Given the description of an element on the screen output the (x, y) to click on. 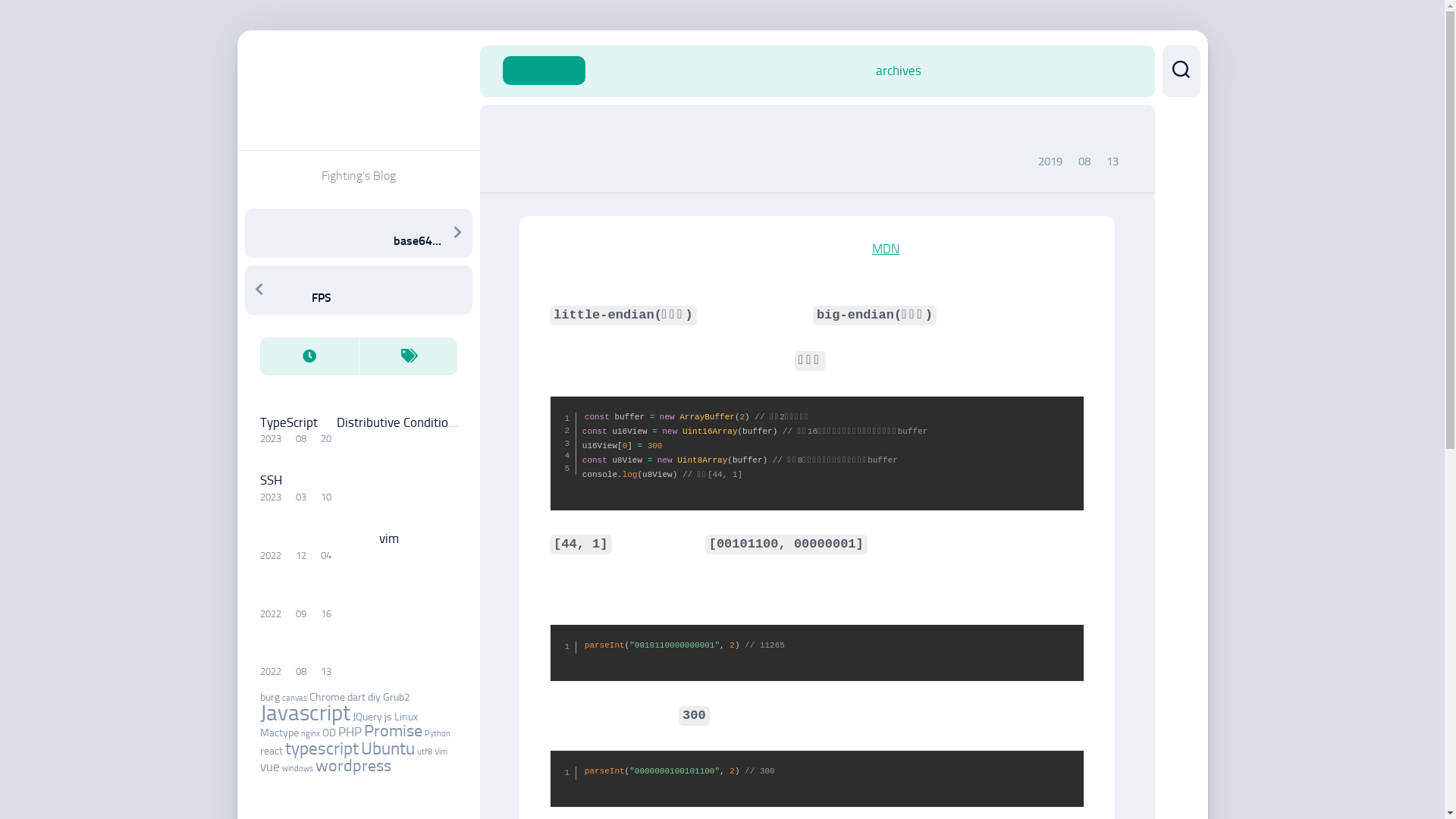
react Element type: text (270, 750)
diy Element type: text (373, 696)
windows Element type: text (297, 768)
js Element type: text (387, 716)
Chrome Element type: text (327, 696)
Python Element type: text (437, 733)
Grub2 Element type: text (395, 696)
dart Element type: text (356, 696)
Vim Element type: text (439, 751)
MDN Element type: text (885, 248)
canvas Element type: text (294, 697)
burg Element type: text (269, 696)
archives Element type: text (897, 70)
Tags Element type: hover (406, 356)
JQuery Element type: text (366, 716)
OD Element type: text (328, 732)
Recent Posts Element type: hover (308, 356)
PHP Element type: text (349, 731)
Ubuntu Element type: text (387, 748)
Promise Element type: text (393, 730)
Linux Element type: text (405, 716)
typescript Element type: text (321, 748)
vue Element type: text (269, 766)
utf8 Element type: text (424, 751)
wordpress Element type: text (353, 765)
Mactype Element type: text (278, 732)
Javascript Element type: text (304, 712)
nginx Element type: text (309, 733)
